Given the description of an element on the screen output the (x, y) to click on. 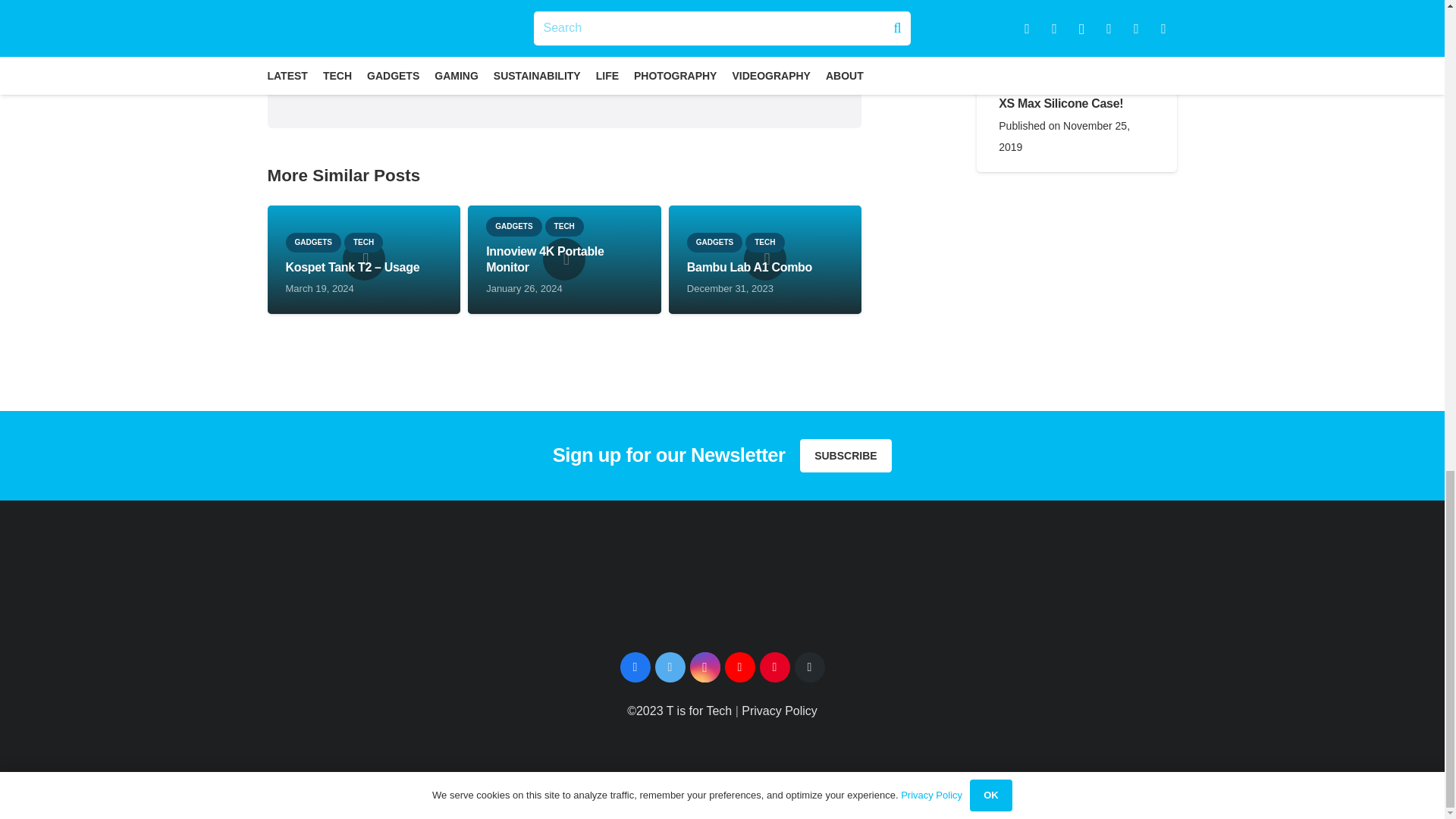
GADGETS (312, 242)
Facebook (635, 666)
TECH (362, 242)
Andrew (624, 31)
